Given the description of an element on the screen output the (x, y) to click on. 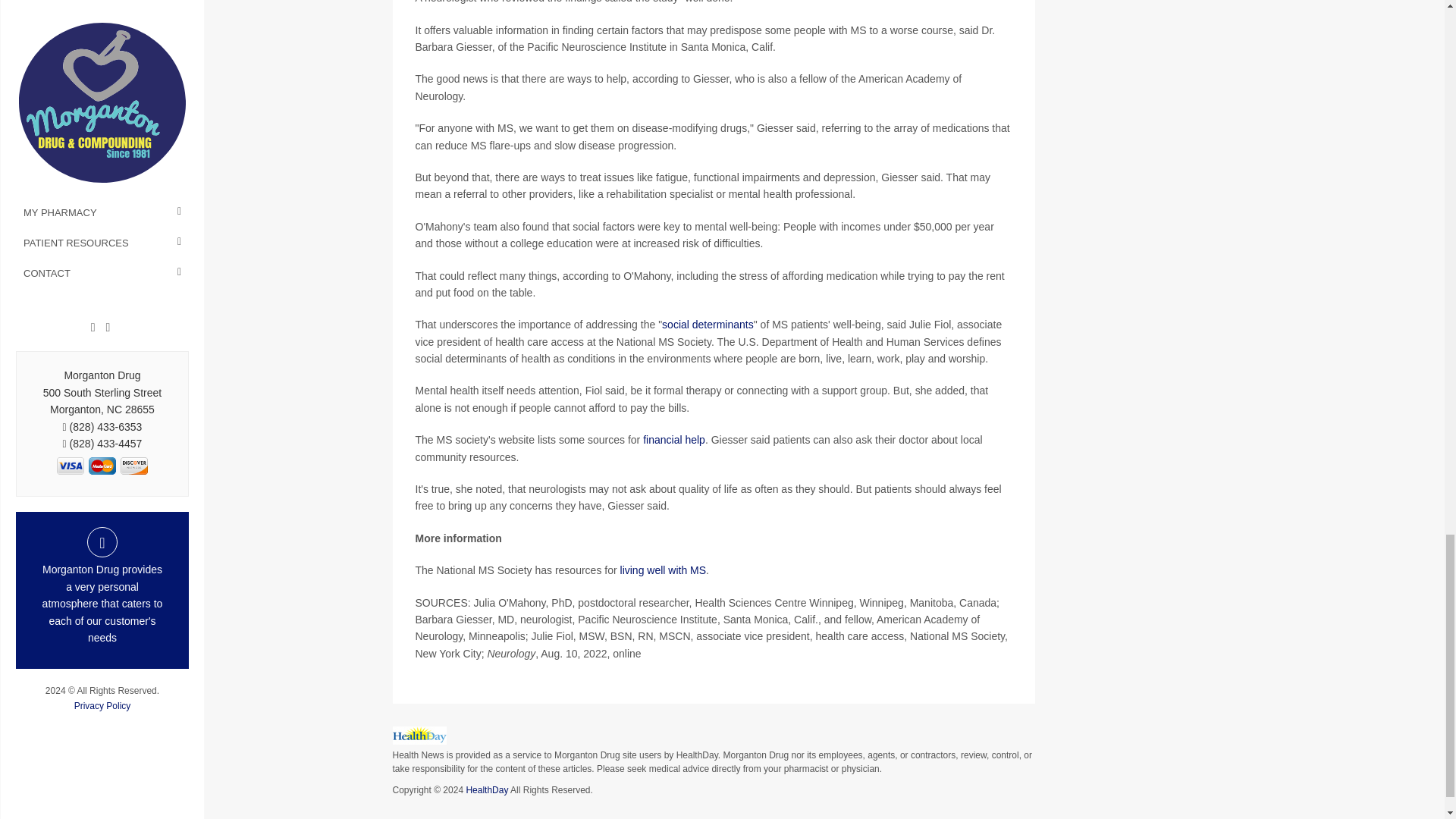
living well with MS (663, 570)
financial help (673, 439)
social determinants (708, 324)
HealthDay (486, 789)
